Given the description of an element on the screen output the (x, y) to click on. 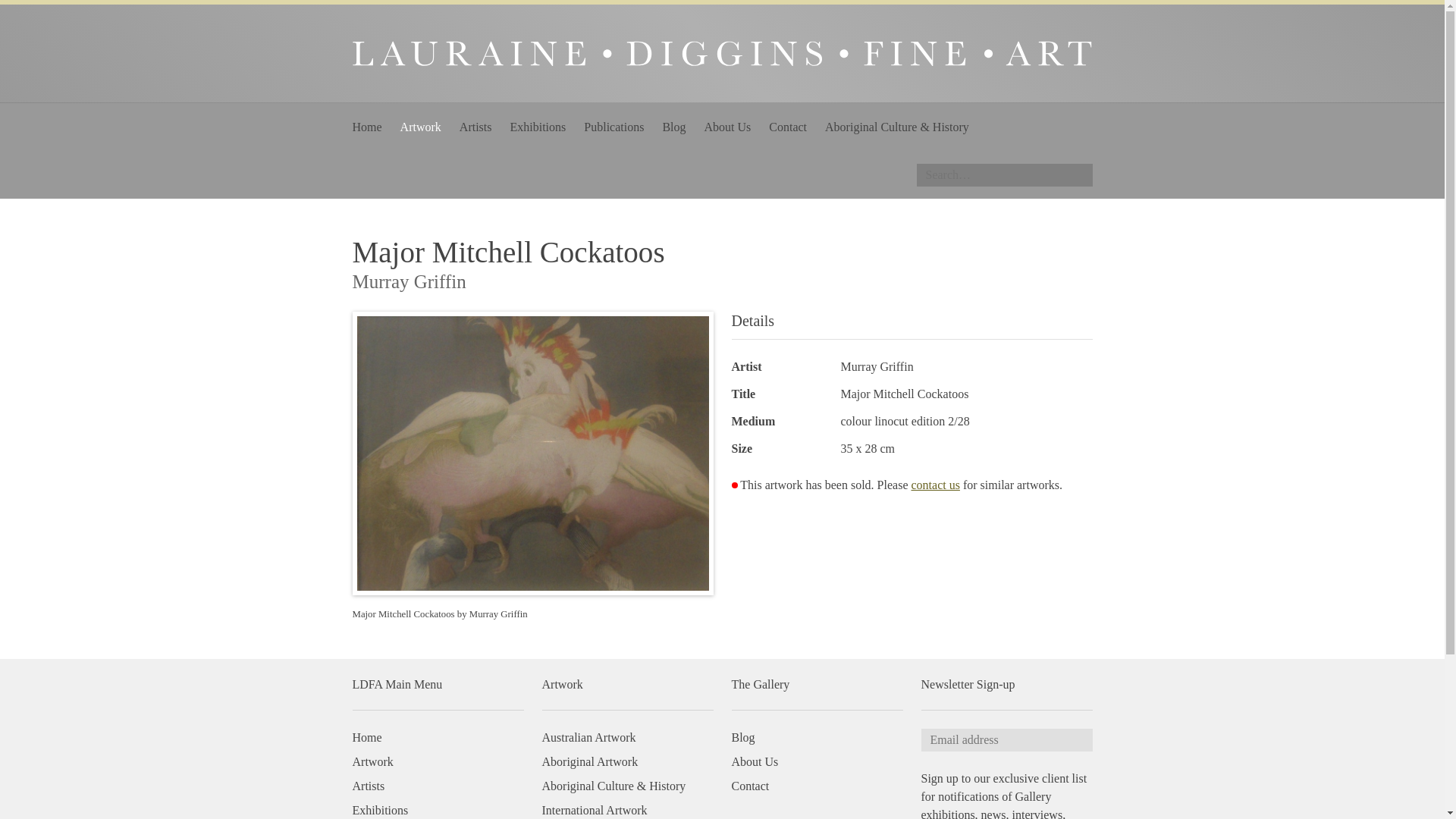
Aboriginal Culture & History Element type: text (613, 785)
Contact Element type: text (749, 785)
About Us Element type: text (754, 761)
Blog Element type: text (742, 737)
Artwork Element type: text (420, 127)
Artists Element type: text (475, 127)
contact us Element type: text (935, 484)
International Artwork Element type: text (593, 809)
Aboriginal Artwork Element type: text (589, 761)
About Us Element type: text (727, 127)
Publications Element type: text (613, 127)
Blog Element type: text (673, 127)
Australian Artwork Element type: text (588, 737)
Home Element type: text (366, 737)
Home Element type: text (366, 127)
Search for: Element type: hover (1004, 174)
Artists Element type: text (367, 785)
Artwork Element type: text (371, 761)
Exhibitions Element type: text (379, 809)
Exhibitions Element type: text (537, 127)
Contact Element type: text (787, 127)
Aboriginal Culture & History Element type: text (896, 127)
